Given the description of an element on the screen output the (x, y) to click on. 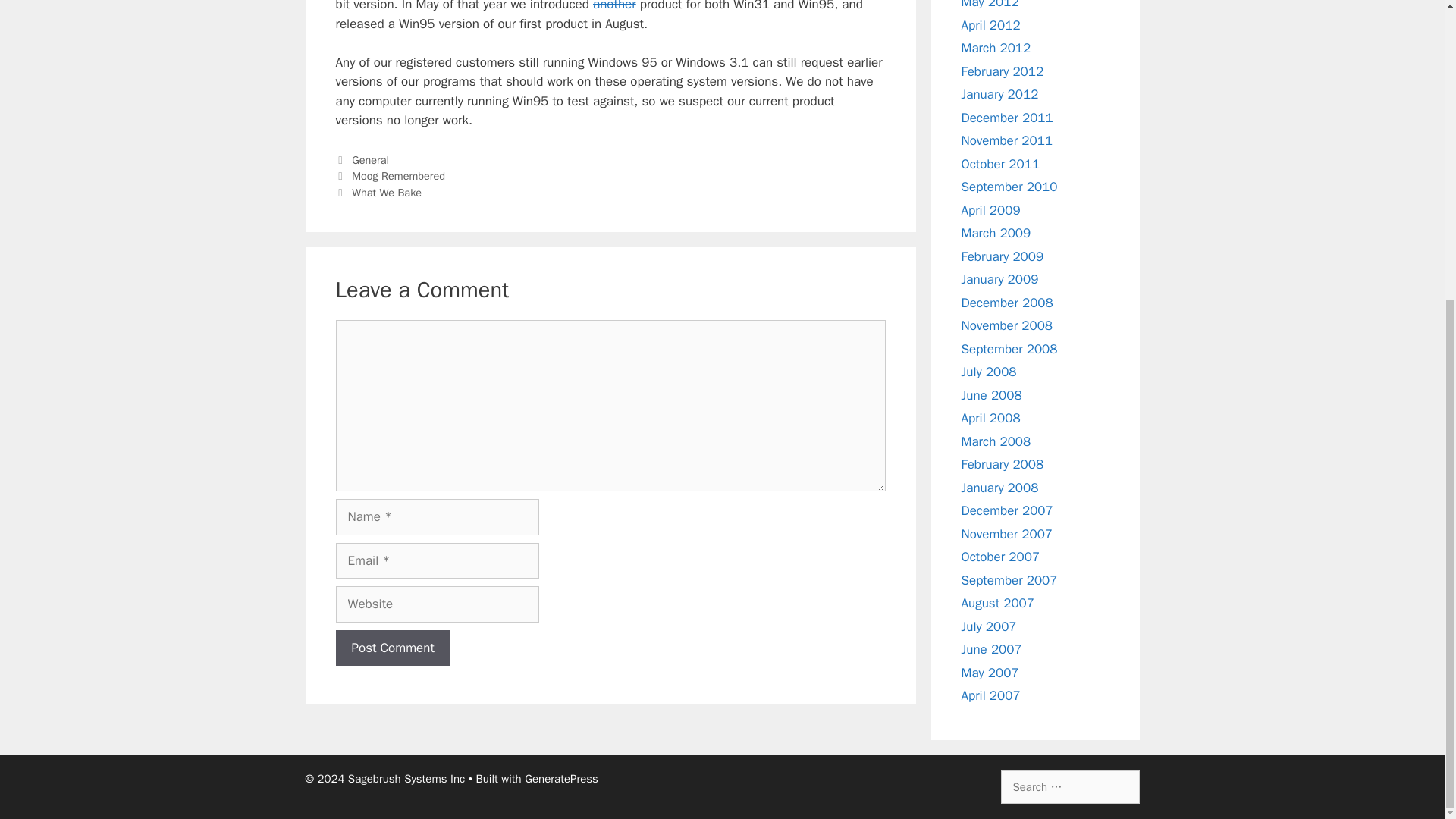
Next (378, 192)
March 2012 (995, 48)
January 2012 (999, 94)
December 2011 (1006, 117)
May 2012 (989, 4)
Previous (389, 175)
April 2012 (990, 25)
March 2009 (995, 232)
September 2010 (1009, 186)
November 2011 (1006, 140)
